Given the description of an element on the screen output the (x, y) to click on. 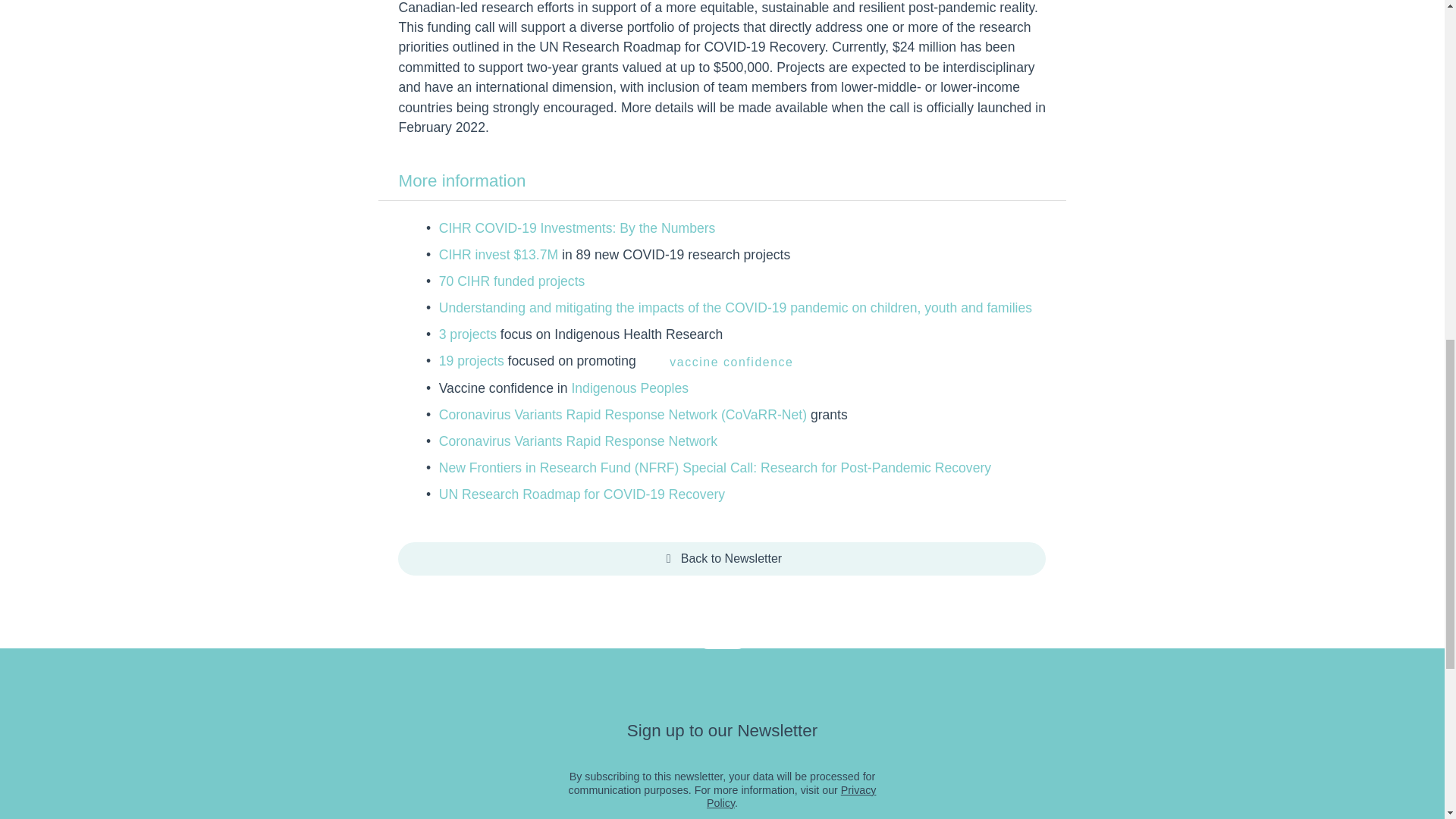
CIHR COVID-19 Investments: By the Numbers (577, 227)
19 projects (471, 360)
70 CIHR funded projects (512, 281)
Indigenous Peoples (629, 387)
UN Research Roadmap for COVID-19 Recovery (582, 494)
vaccine confidence (732, 361)
Privacy Policy (791, 796)
Coronavirus Variants Rapid Response Network (578, 441)
3 projects (467, 334)
